Given the description of an element on the screen output the (x, y) to click on. 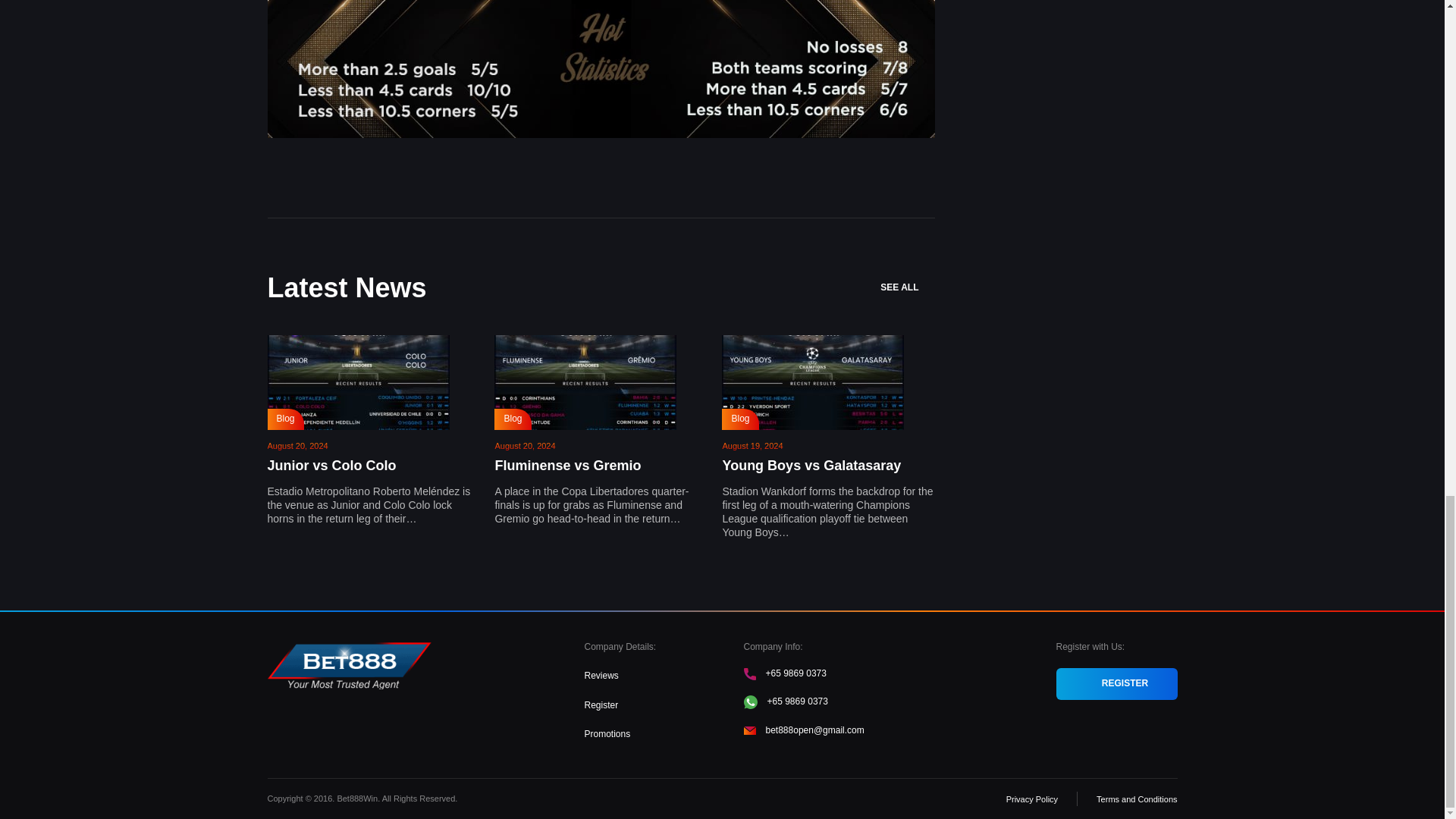
Fluminense vs Gremio (567, 465)
Junior vs Colo Colo (331, 465)
Promotions (606, 733)
Young Boys vs Galatasaray (811, 465)
Register (600, 705)
Terms and Conditions (1136, 798)
REGISTER (1115, 684)
Privacy Policy (1032, 798)
SEE ALL (907, 287)
Reviews (600, 675)
